Given the description of an element on the screen output the (x, y) to click on. 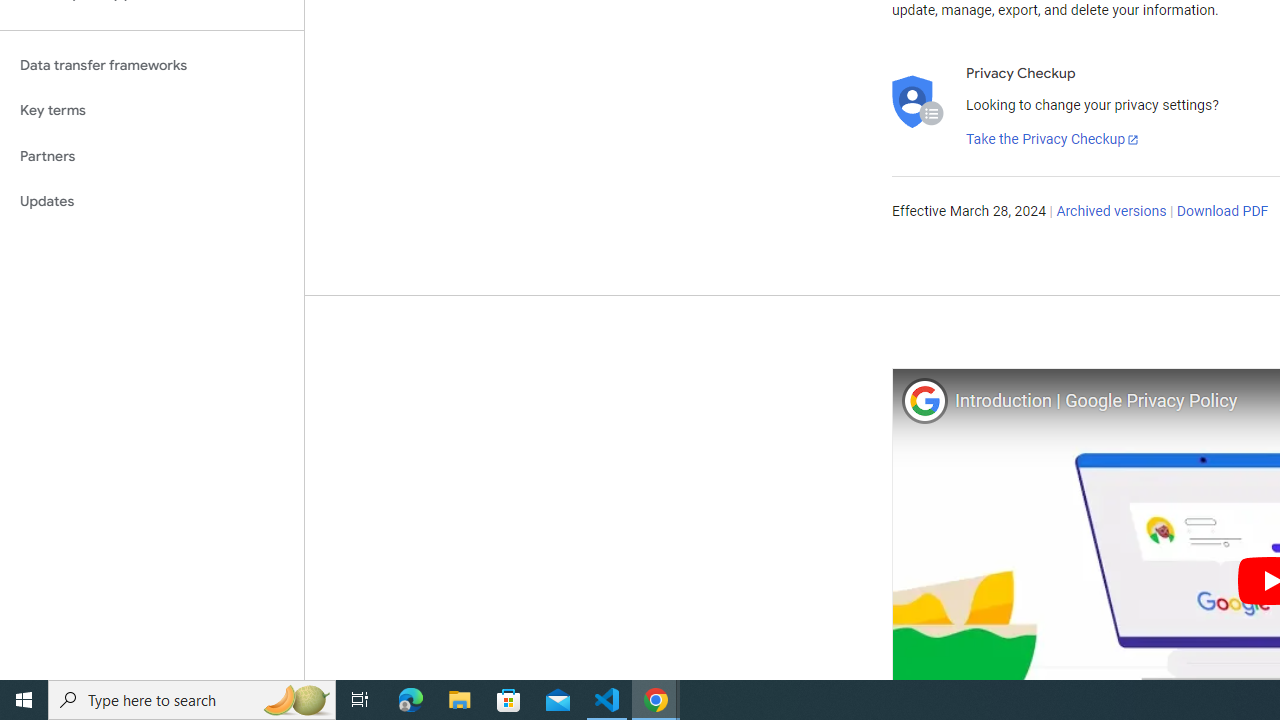
Take the Privacy Checkup (1053, 140)
Download PDF (1222, 212)
Data transfer frameworks (152, 65)
Partners (152, 156)
Key terms (152, 110)
Archived versions (1111, 212)
Photo image of Google (924, 400)
